Given the description of an element on the screen output the (x, y) to click on. 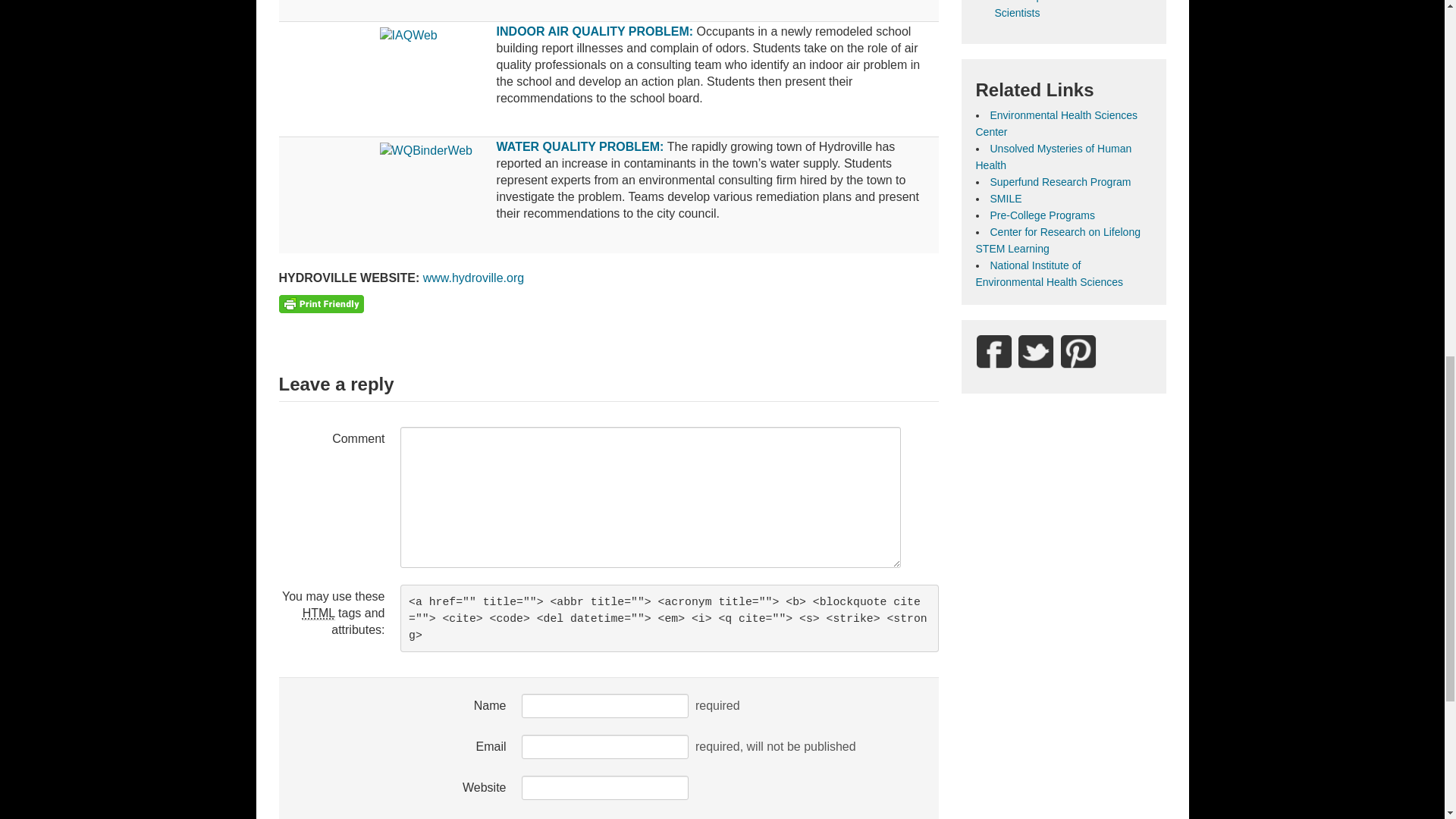
Environ Health K-12 on Pinterest (1077, 351)
WATER QUALITY PROBLEM: (581, 146)
www.hydroville.org (473, 277)
EHSC on Facebook (993, 351)
HyperText Markup Language (318, 612)
INDOOR AIR QUALITY PROBLEM: (595, 31)
OSU EHSC on Twitter (1035, 351)
